Given the description of an element on the screen output the (x, y) to click on. 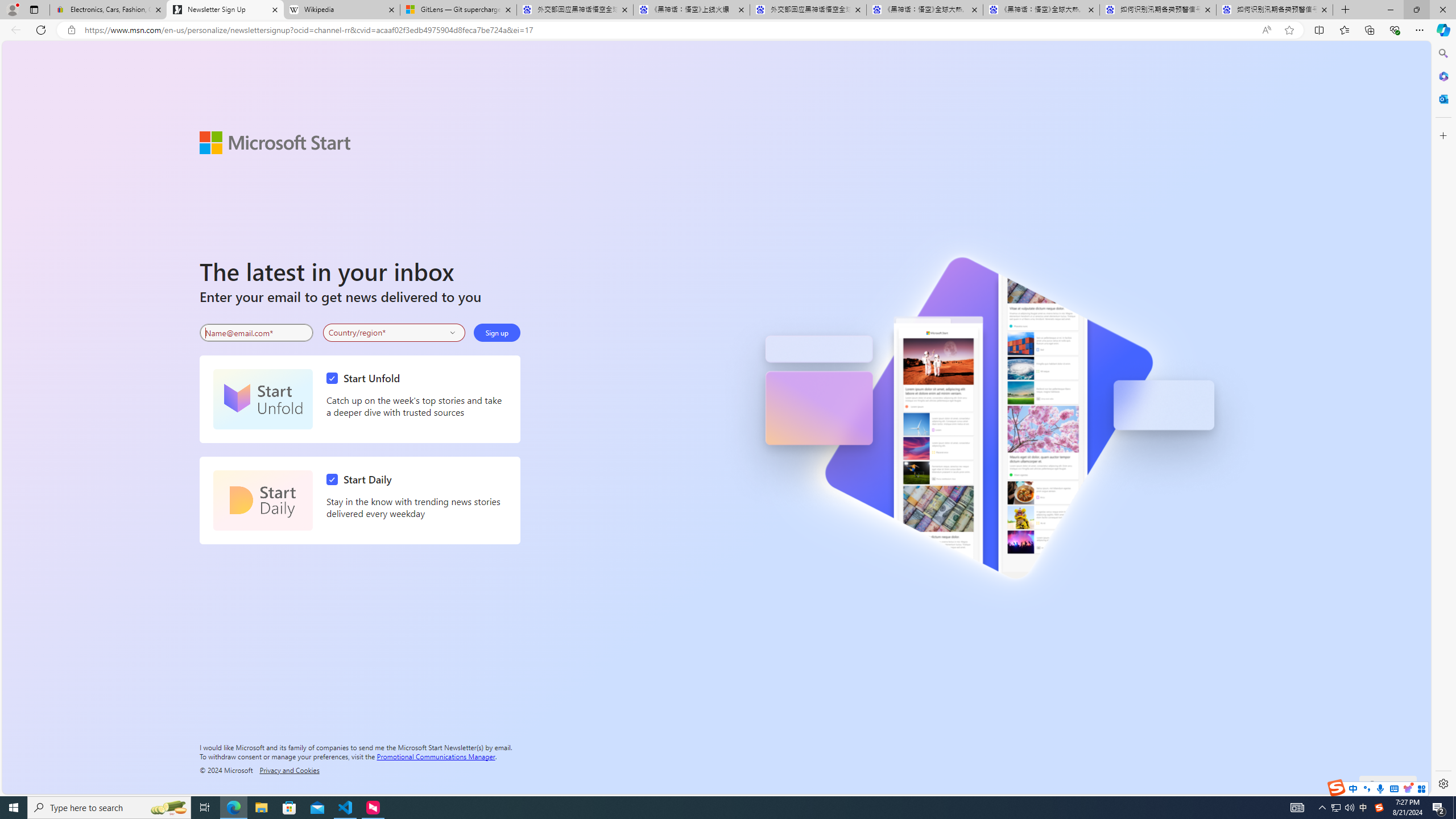
Start Unfold (366, 378)
Newsletter Sign Up (224, 9)
Promotional Communications Manager (436, 755)
Enter your email (256, 332)
Side bar (1443, 418)
Microsoft 365 (1442, 76)
Address and search bar (669, 29)
Customize (1442, 135)
Search (1442, 53)
